Given the description of an element on the screen output the (x, y) to click on. 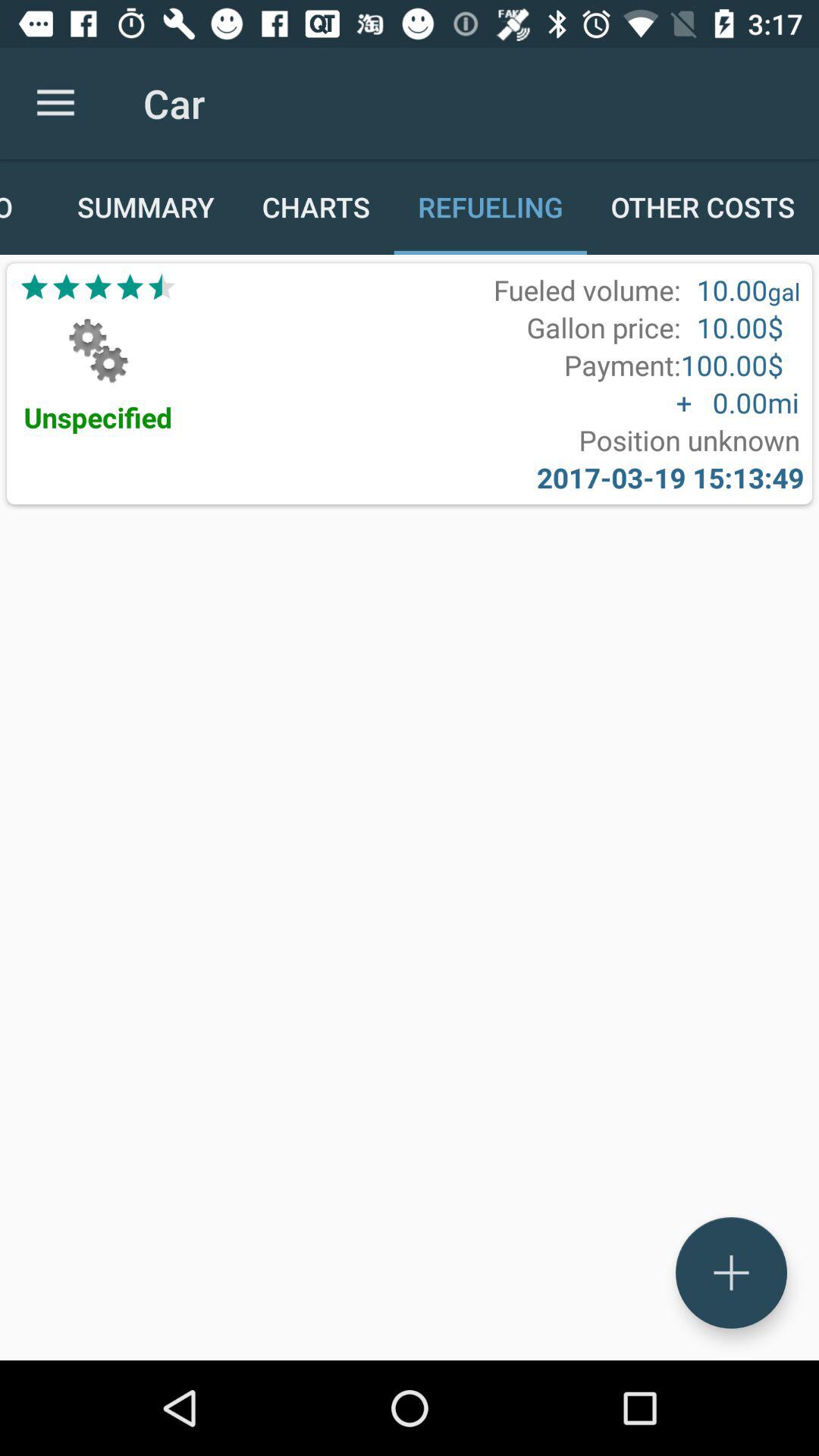
launch the icon next to fueled volume: icon (98, 287)
